Given the description of an element on the screen output the (x, y) to click on. 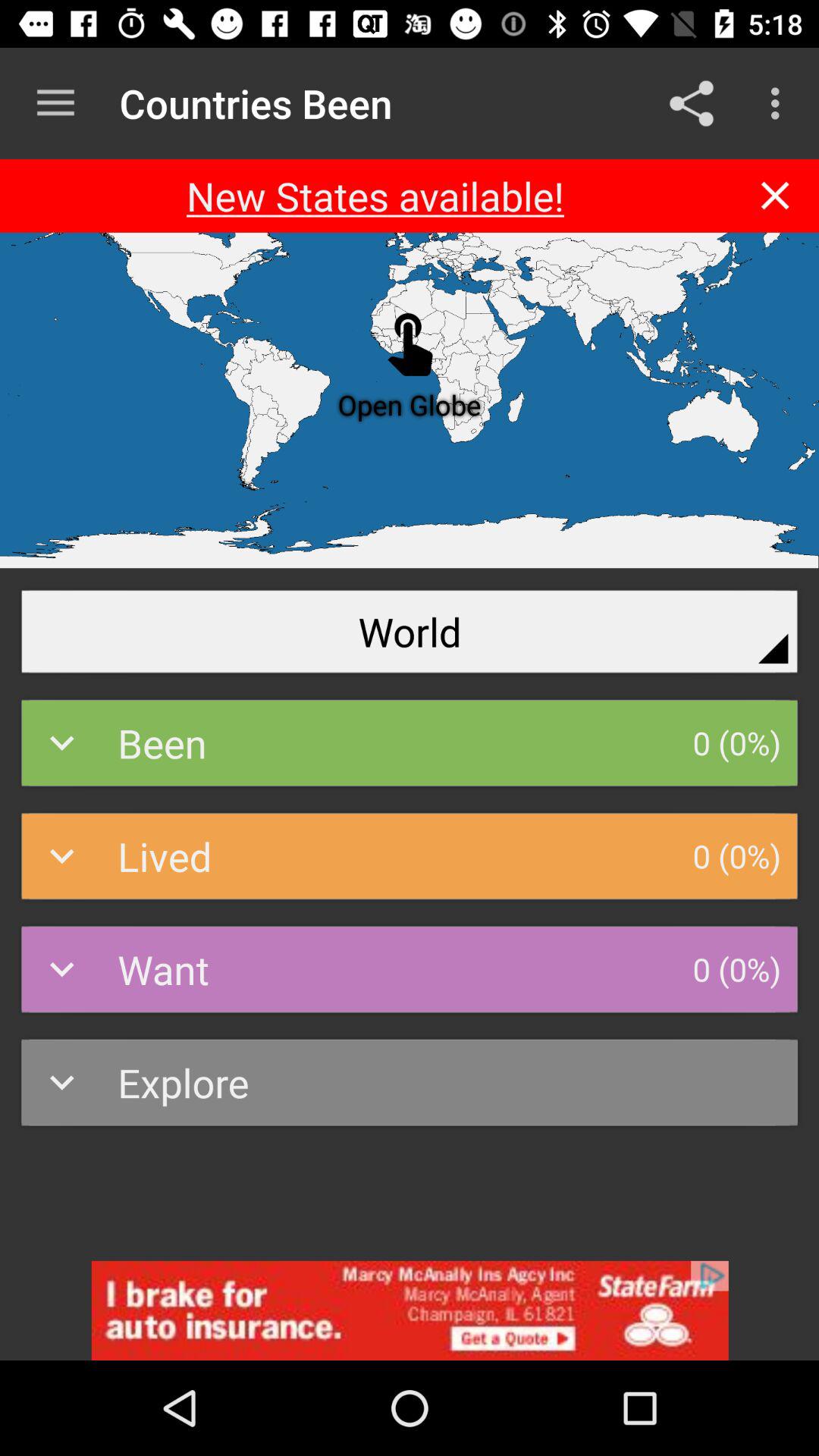
more countries list (55, 103)
